Given the description of an element on the screen output the (x, y) to click on. 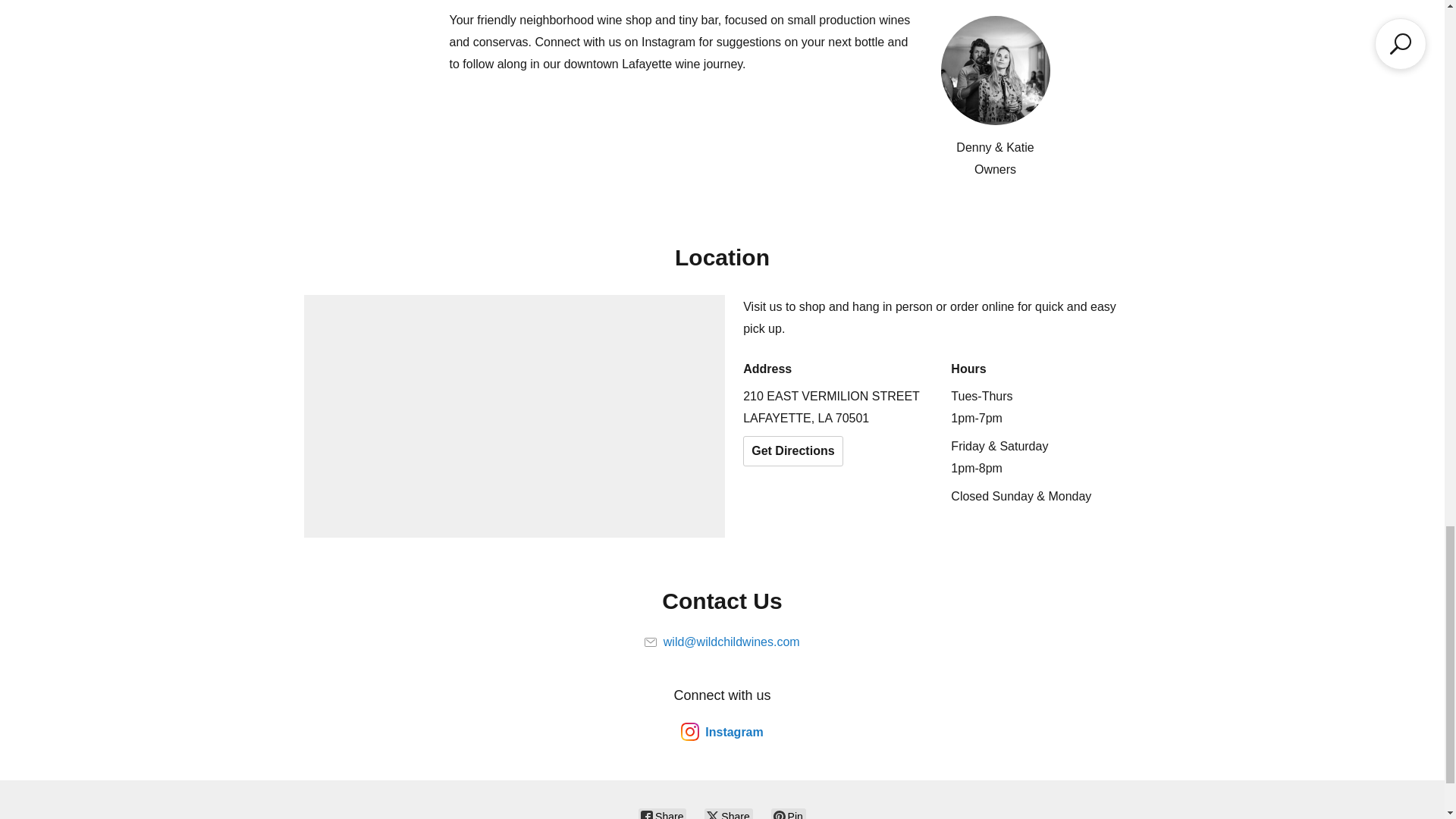
Location on map (513, 415)
